Given the description of an element on the screen output the (x, y) to click on. 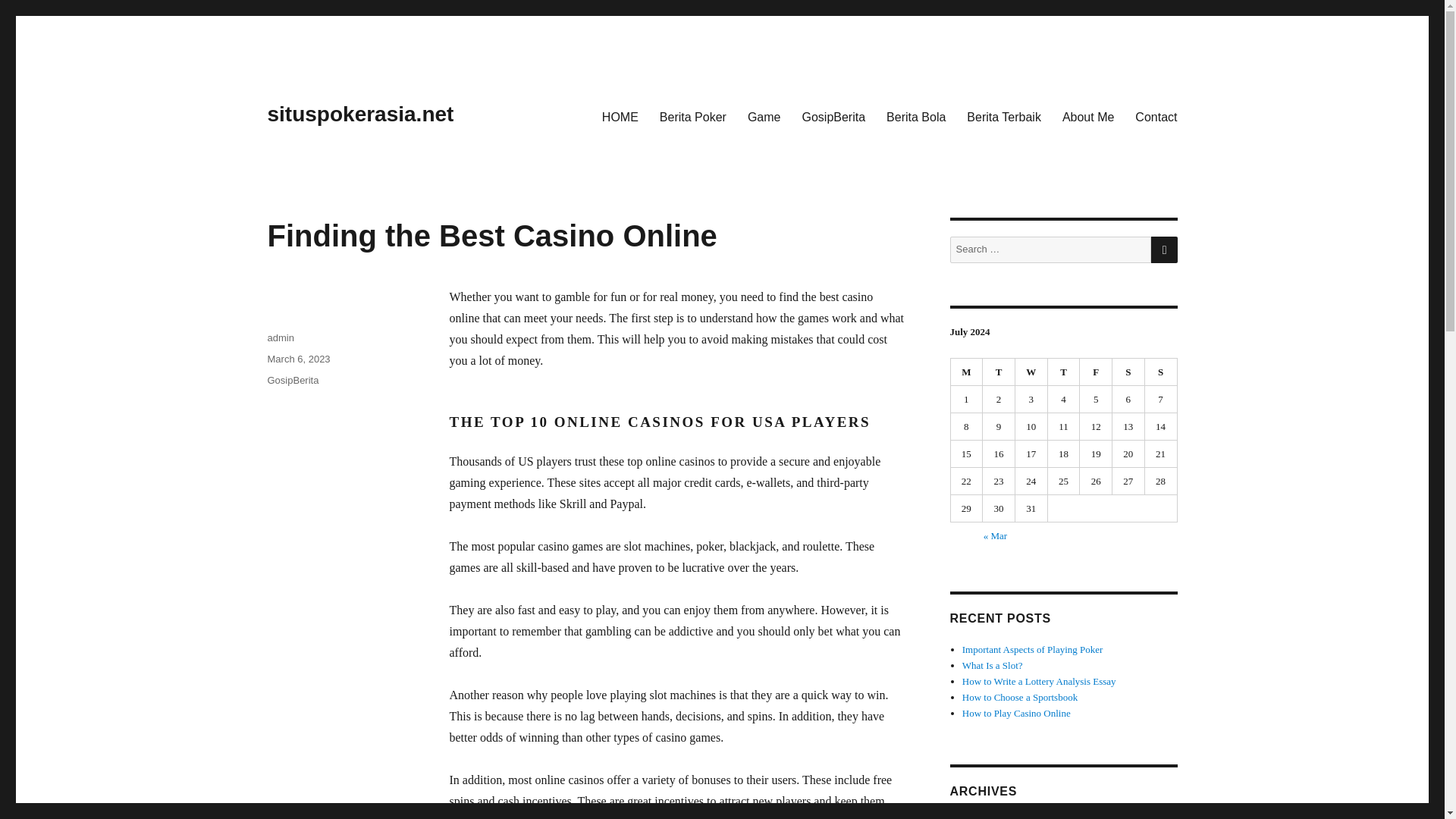
Berita Bola (916, 116)
How to Play Casino Online (1016, 713)
SEARCH (1164, 249)
What Is a Slot? (992, 665)
March 2024 (986, 817)
Contact (1156, 116)
About Me (1087, 116)
Monday (967, 371)
Tuesday (998, 371)
Game (764, 116)
Important Aspects of Playing Poker (1032, 649)
March 6, 2023 (298, 358)
How to Choose a Sportsbook (1019, 696)
Wednesday (1031, 371)
GosipBerita (292, 379)
